Given the description of an element on the screen output the (x, y) to click on. 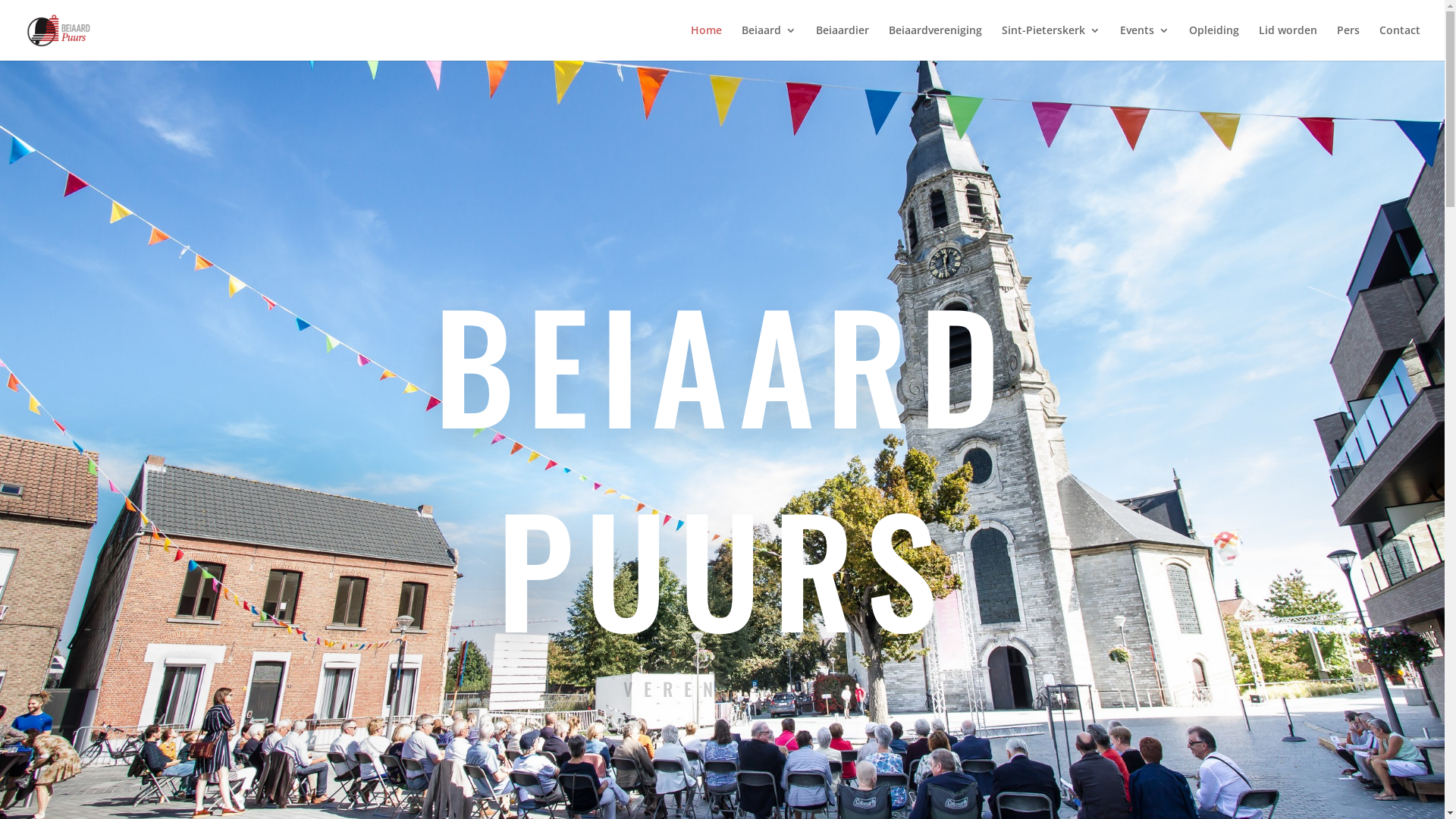
Events Element type: text (1144, 42)
Beiaard Element type: text (768, 42)
Pers Element type: text (1347, 42)
Beiaardvereniging Element type: text (935, 42)
Contact Element type: text (1399, 42)
Lid worden Element type: text (1287, 42)
Opleiding Element type: text (1214, 42)
Home Element type: text (705, 42)
Beiaardier Element type: text (842, 42)
Sint-Pieterskerk Element type: text (1050, 42)
